Given the description of an element on the screen output the (x, y) to click on. 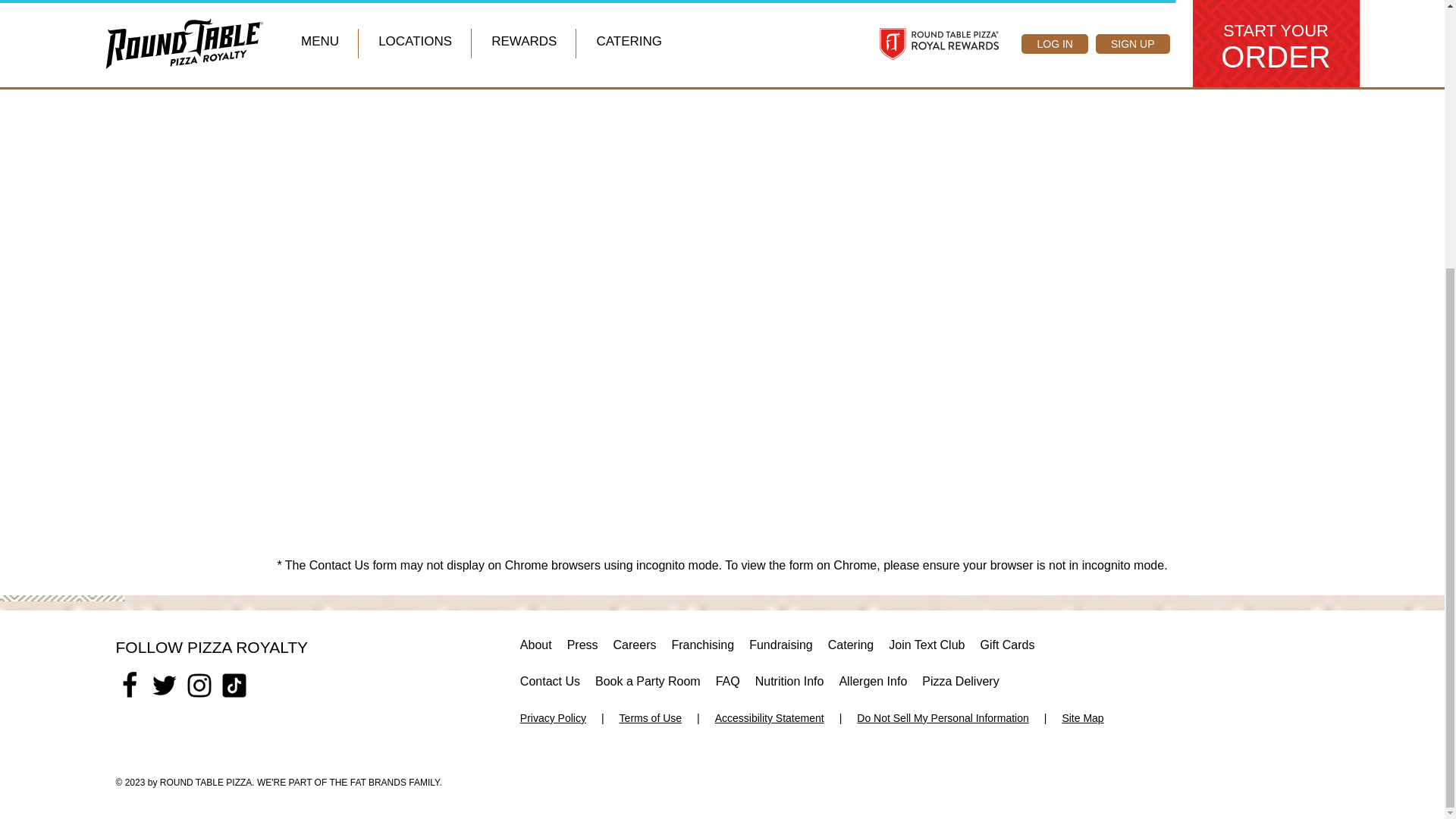
About (535, 649)
Press (582, 649)
Book a Party Room (647, 685)
Catering (850, 649)
Terms of Use (660, 721)
Careers (634, 649)
Allergen Info (872, 685)
Fundraising (780, 649)
Gift Cards (1006, 649)
Pizza Delivery (959, 685)
